Given the description of an element on the screen output the (x, y) to click on. 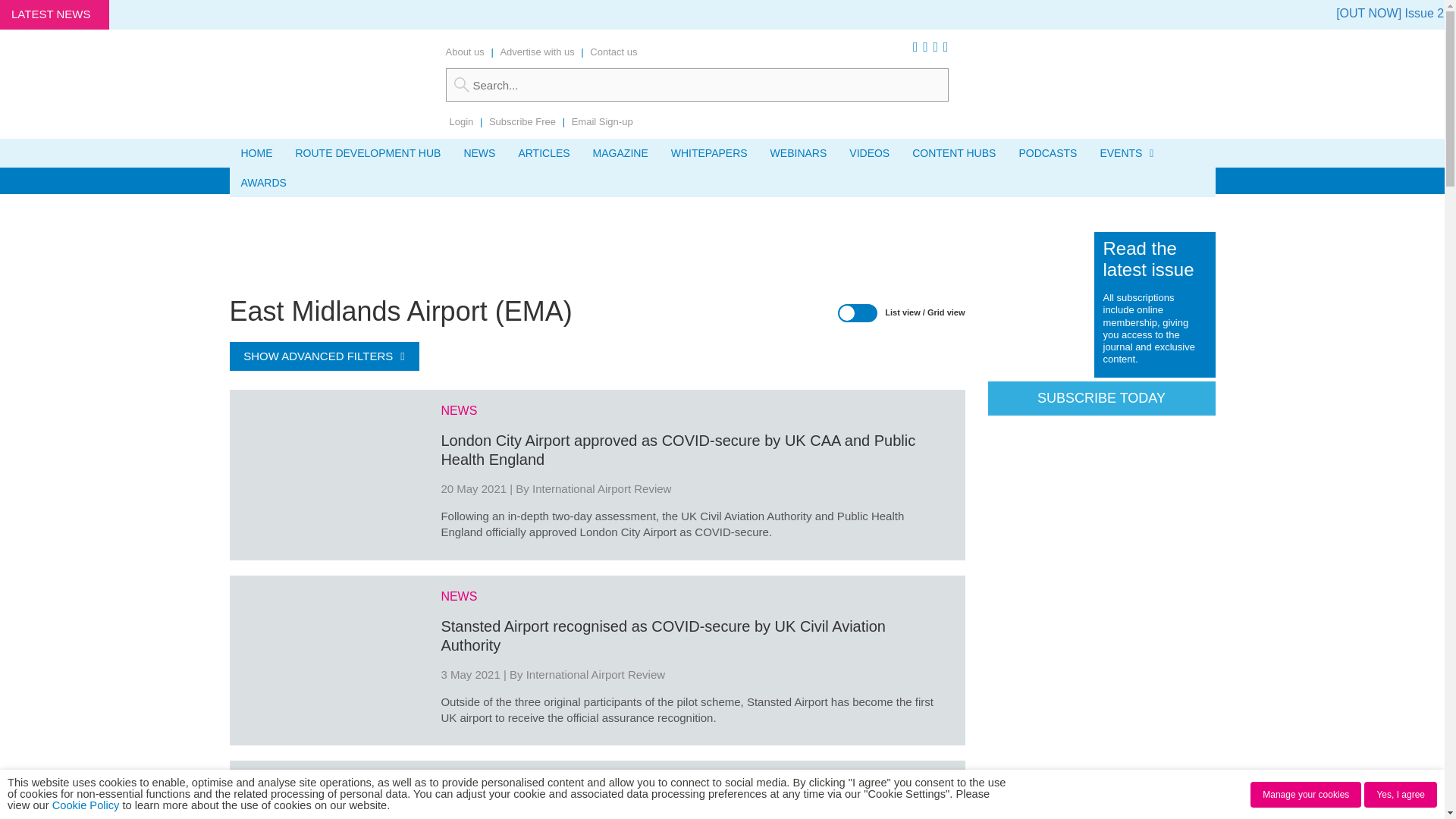
ENVIRONMENT (540, 180)
ARTICLES (543, 152)
Login (460, 121)
HOME (255, 152)
AWARDS (262, 182)
Advertise with us (536, 51)
ROUTE DEVELOPMENT HUB (367, 152)
PASSENGER EXPERIENCE (306, 180)
MAGAZINE (619, 152)
CONTENT HUBS (954, 152)
